Given the description of an element on the screen output the (x, y) to click on. 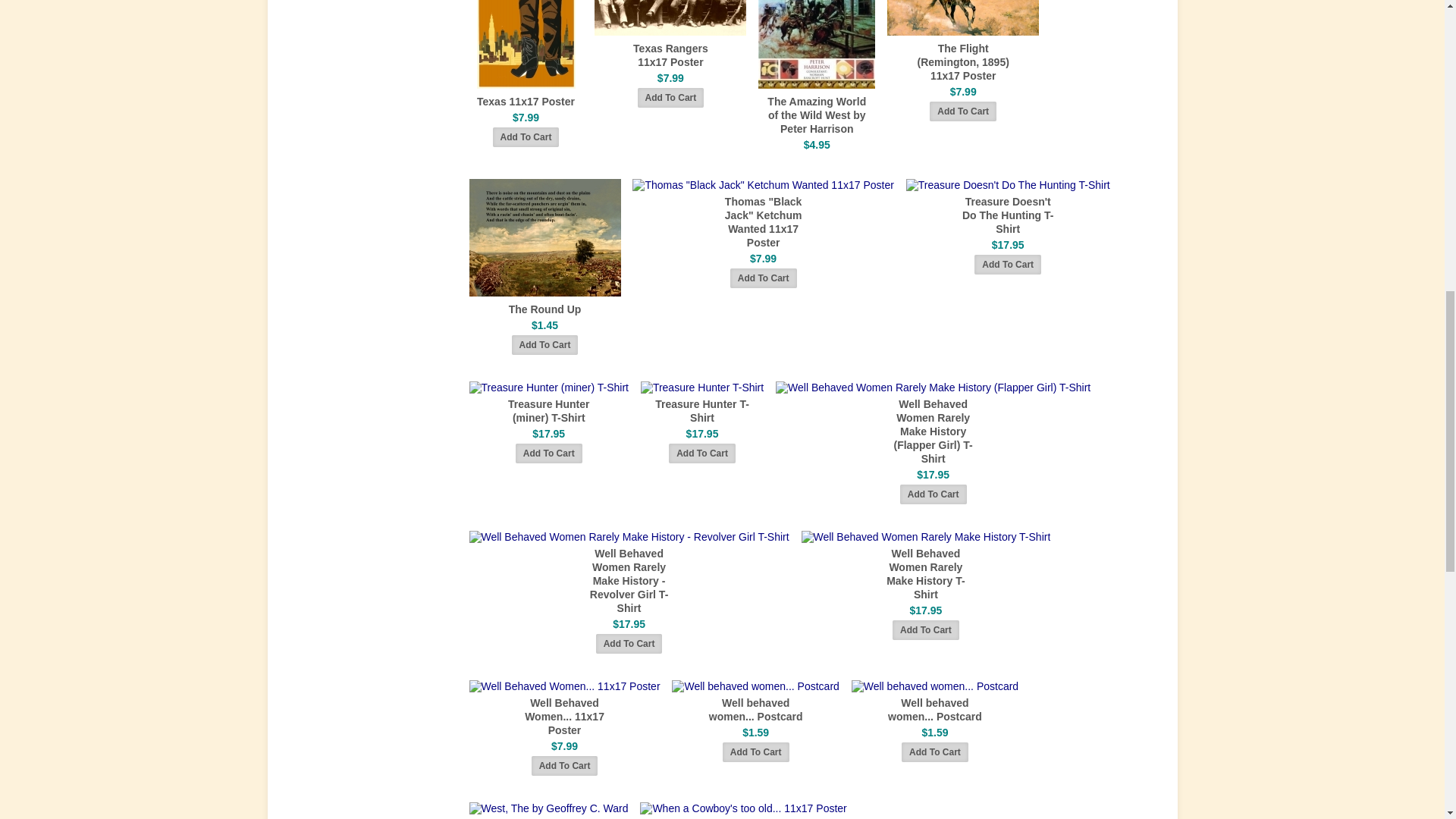
Add To Cart (628, 643)
Add To Cart (548, 453)
Add To Cart (962, 111)
Add To Cart (755, 752)
Add To Cart (763, 278)
Add To Cart (934, 752)
Add To Cart (564, 765)
Add To Cart (701, 453)
Add To Cart (932, 494)
Add To Cart (925, 629)
